Given the description of an element on the screen output the (x, y) to click on. 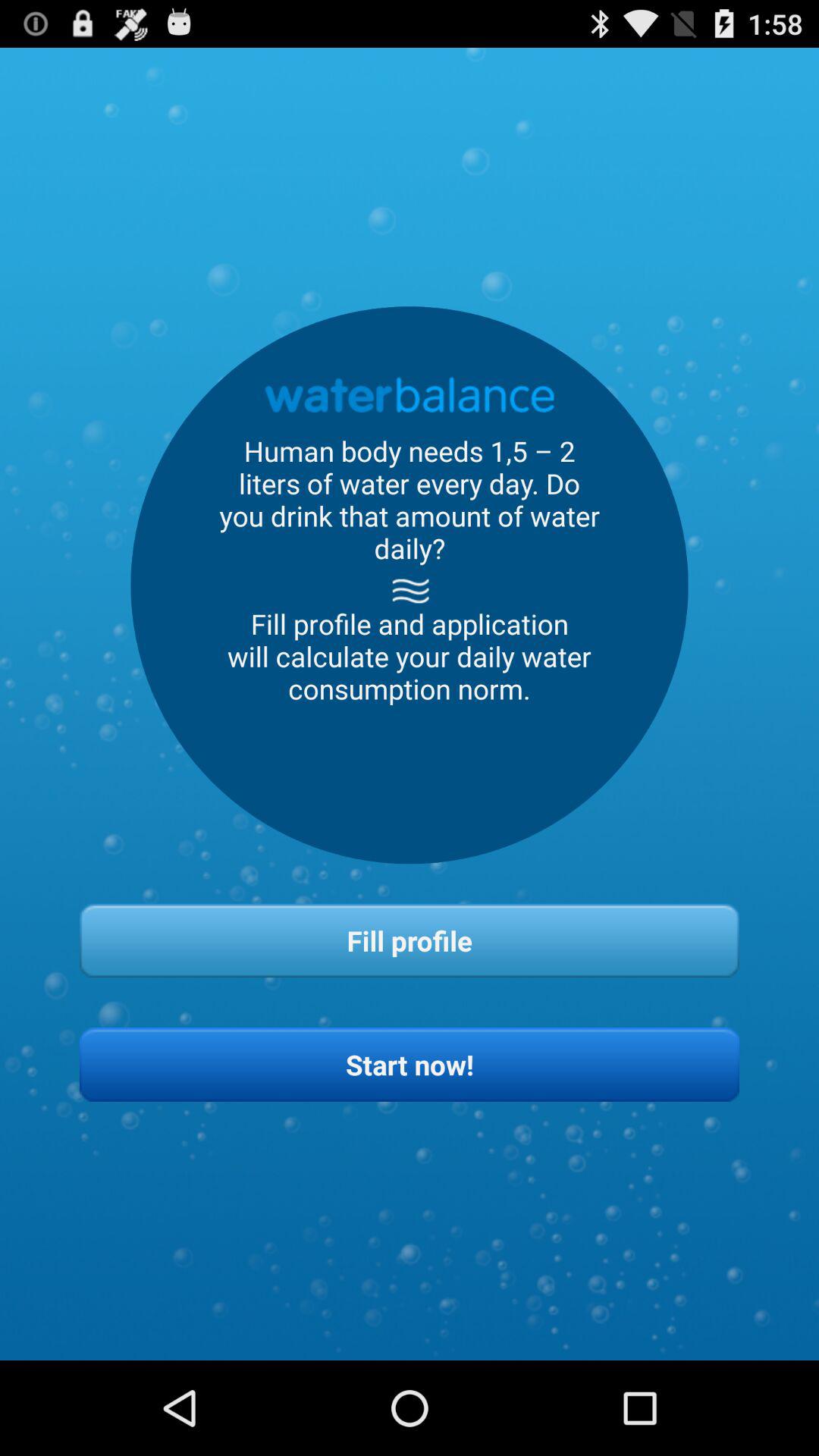
select the button at the bottom (409, 1064)
